Given the description of an element on the screen output the (x, y) to click on. 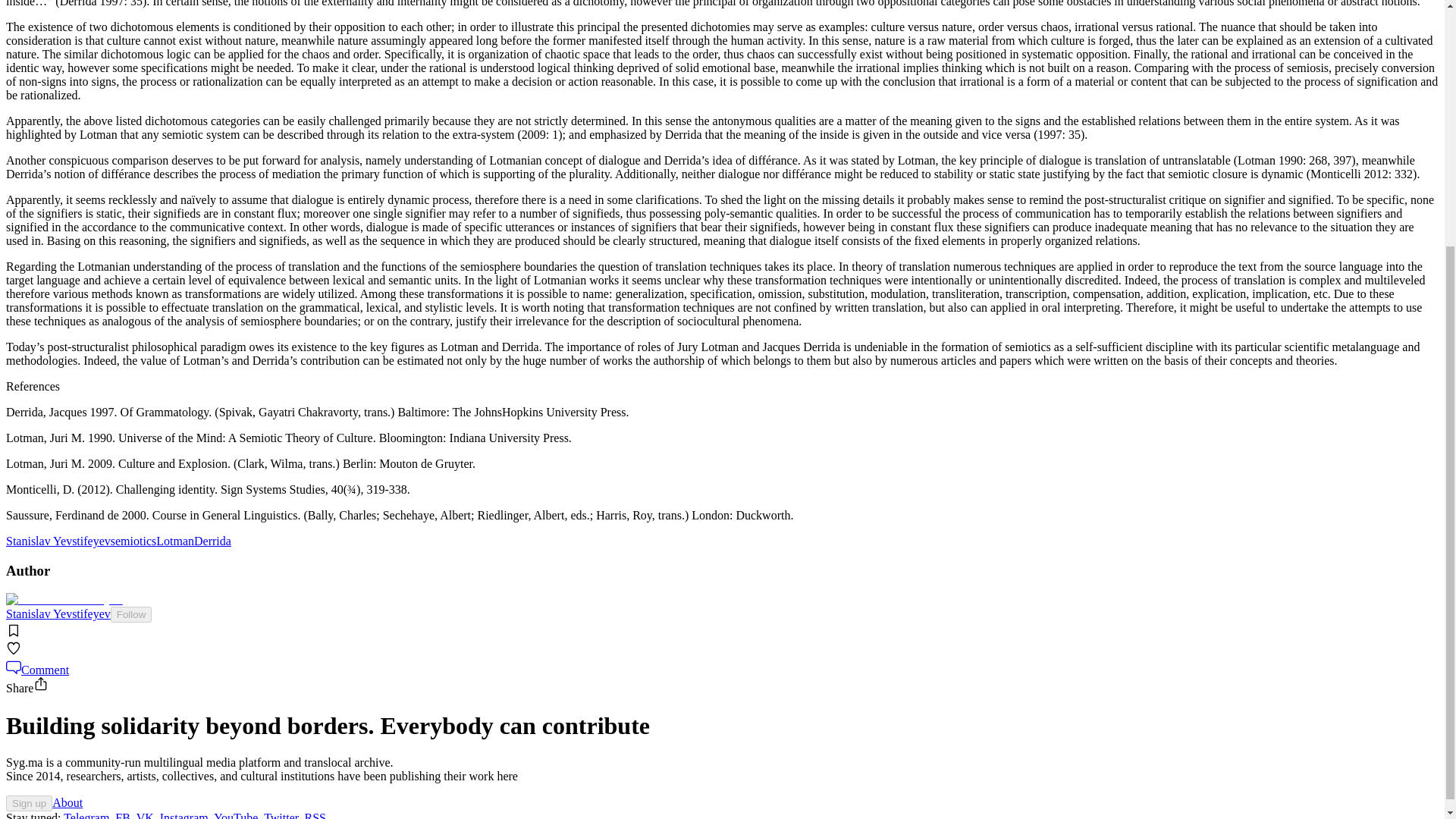
Stanislav Yevstifeyev (57, 540)
Derrida (212, 540)
Sign up (28, 803)
About (67, 802)
semiotics (132, 540)
Stanislav Yevstifeyev (57, 613)
Lotman (174, 540)
Follow (131, 614)
Comment (36, 669)
